Given the description of an element on the screen output the (x, y) to click on. 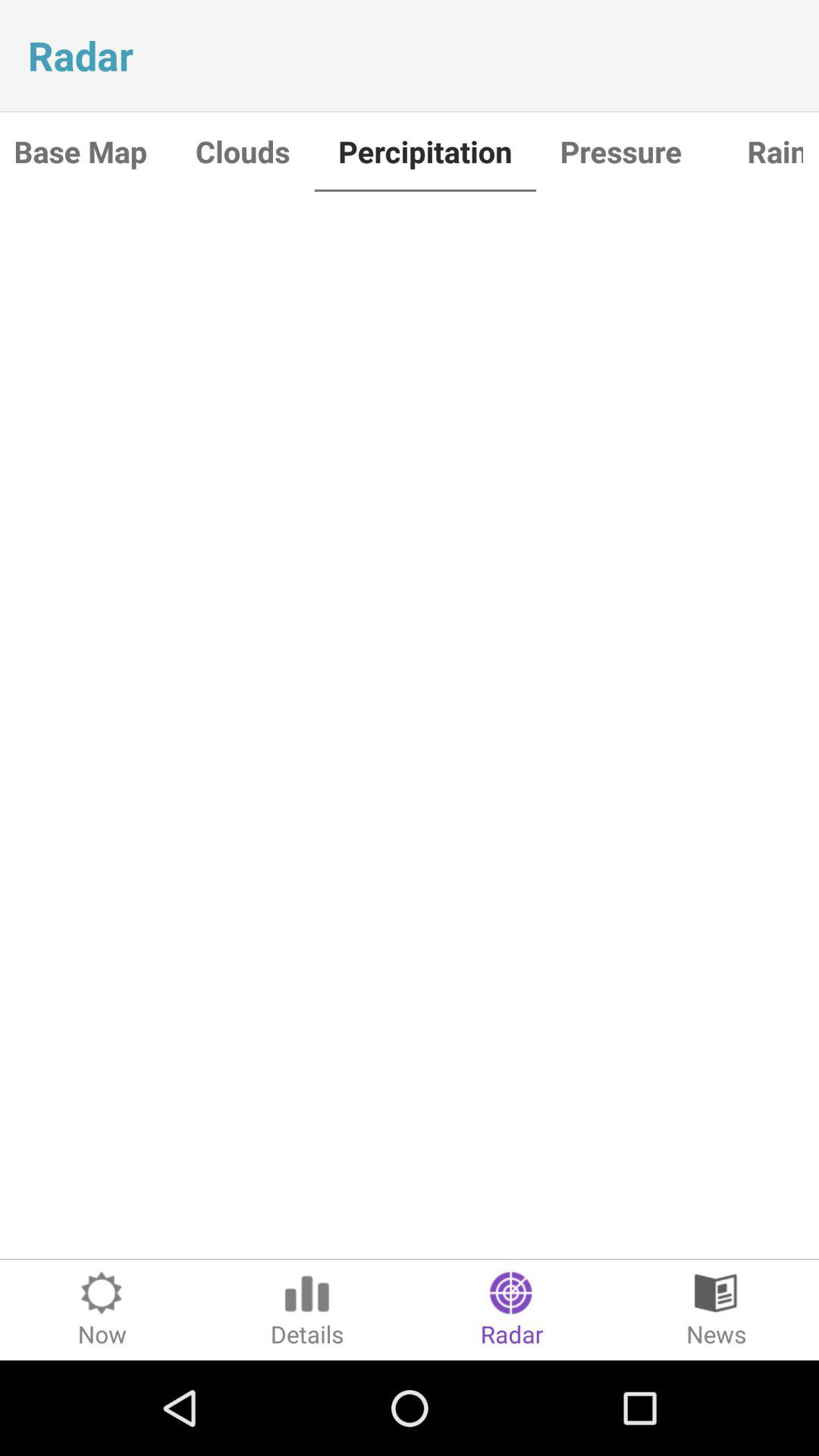
turn off the item next to the radar (306, 1310)
